Given the description of an element on the screen output the (x, y) to click on. 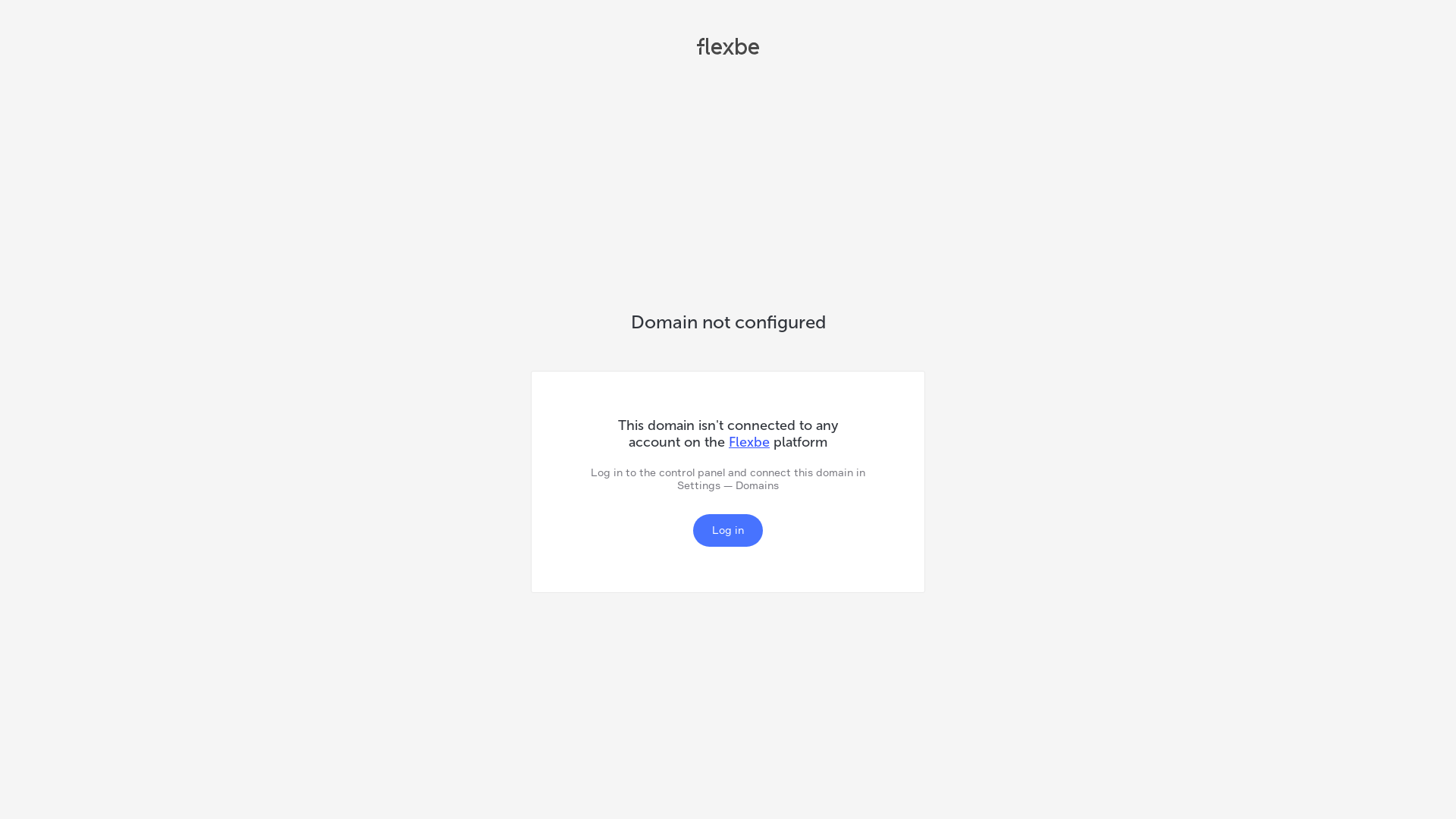
Log in Element type: text (727, 530)
Flexbe Element type: text (748, 441)
Flexbe Element type: hover (727, 48)
